Given the description of an element on the screen output the (x, y) to click on. 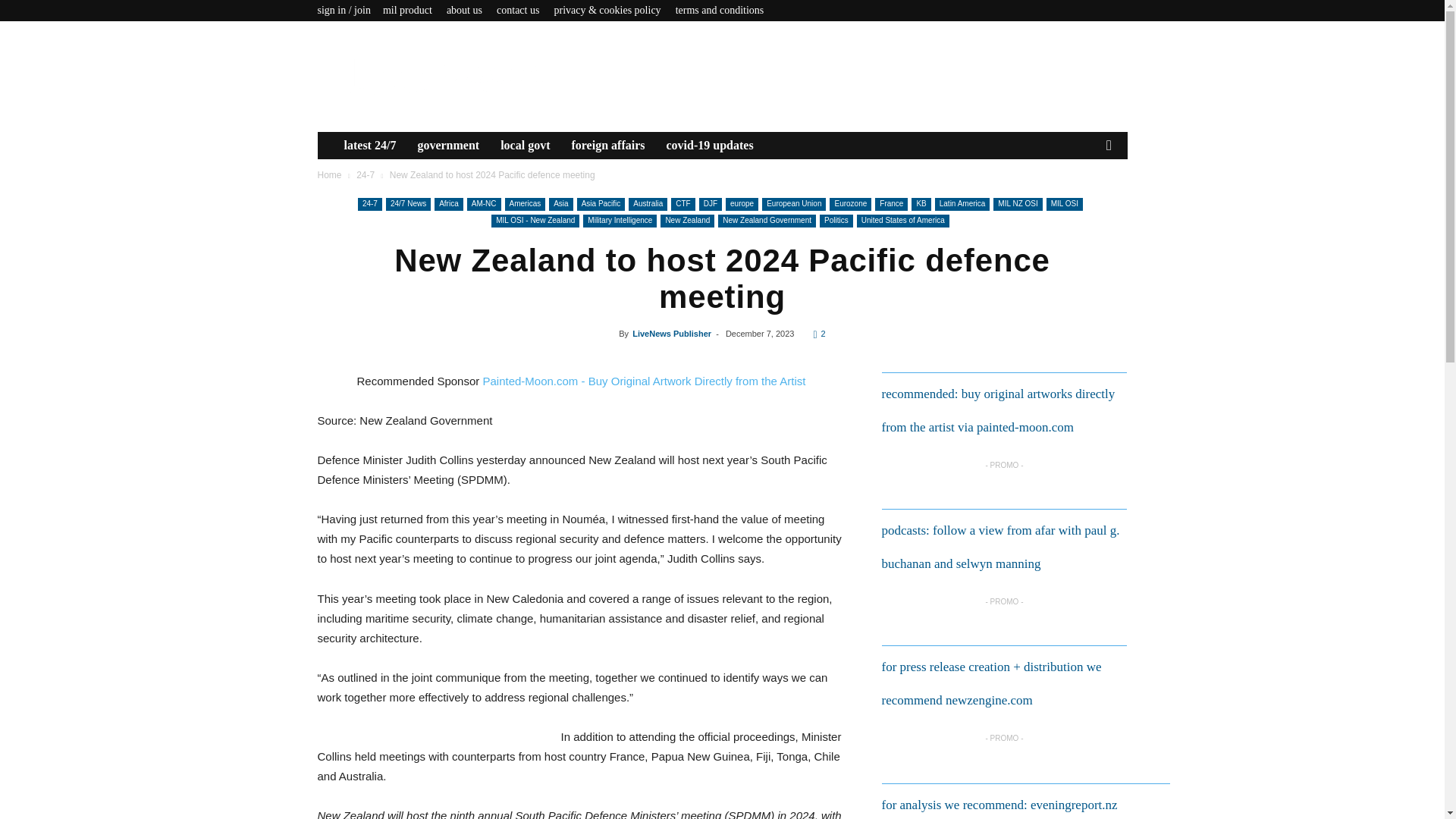
covid-19 updates (708, 144)
Americas (525, 204)
View all posts in 24-7 (365, 174)
Home (328, 174)
AM-NC (483, 204)
terms and conditions (719, 9)
local govt (524, 144)
CTF (682, 204)
DJF (710, 204)
Asia (560, 204)
about us (463, 9)
contact us (517, 9)
Search (1085, 201)
24-7 (369, 204)
Africa (448, 204)
